Given the description of an element on the screen output the (x, y) to click on. 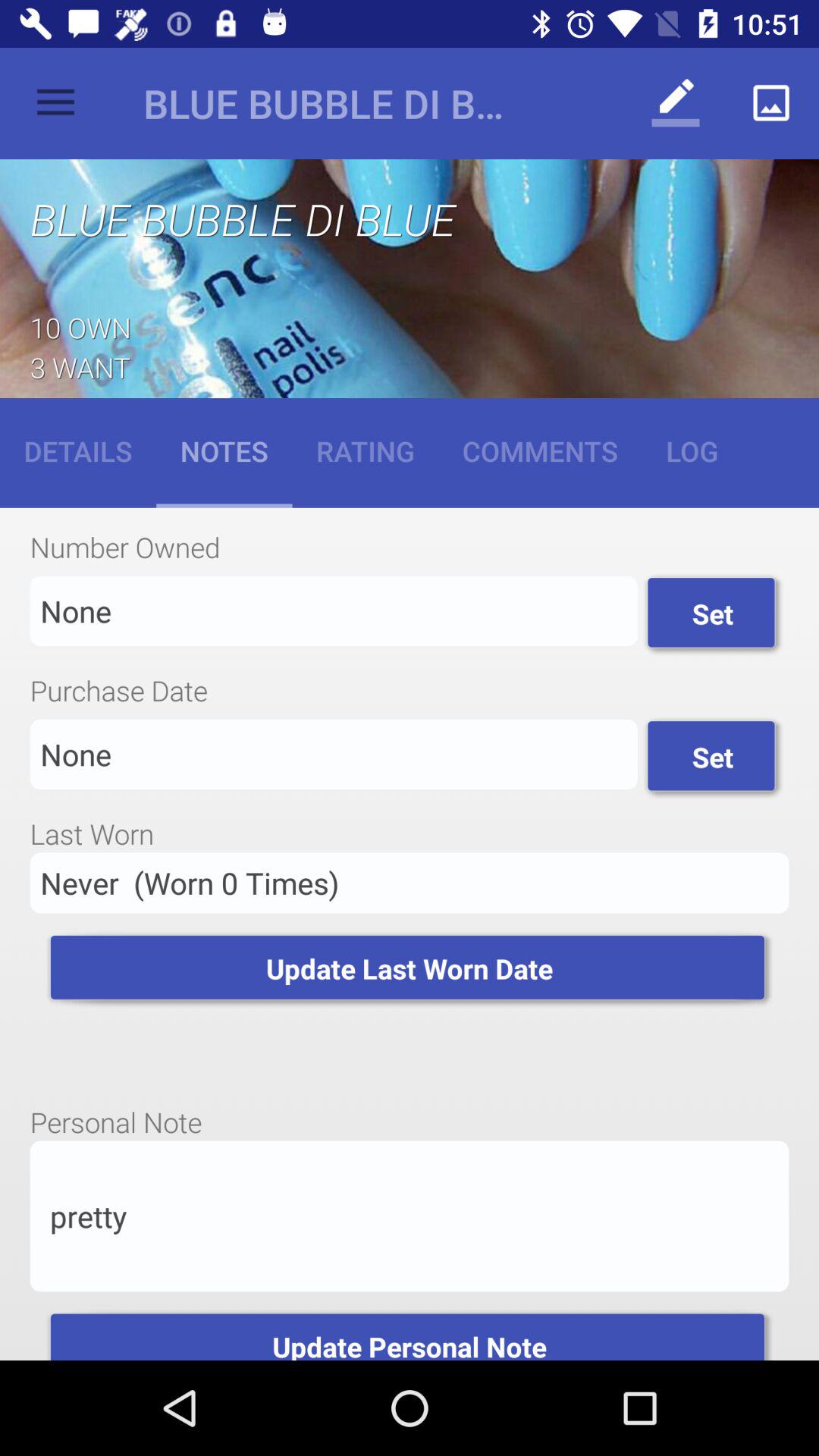
press the details item (78, 450)
